Given the description of an element on the screen output the (x, y) to click on. 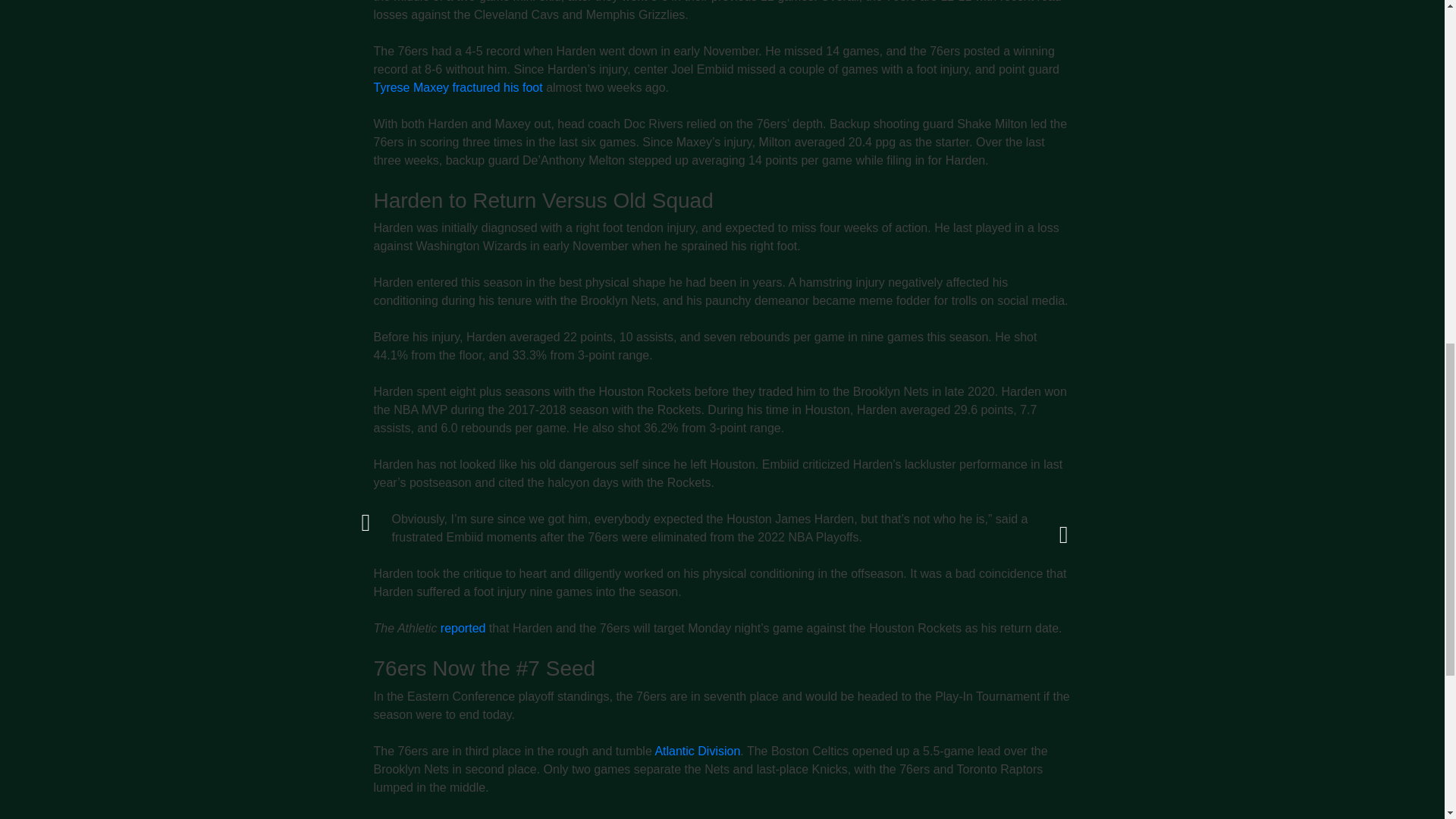
Atlantic Division (696, 750)
reported (463, 627)
Tyrese Maxey fractured his foot (456, 87)
